Given the description of an element on the screen output the (x, y) to click on. 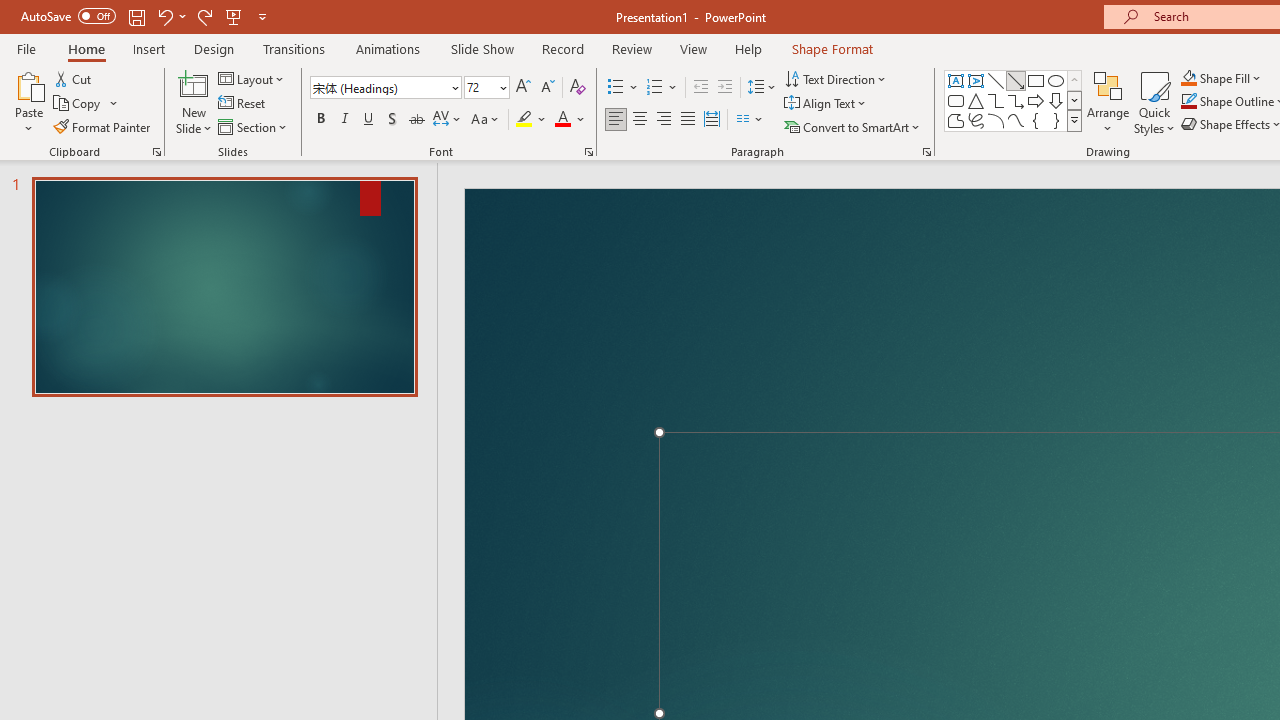
Text Direction (836, 78)
Character Spacing (447, 119)
Connector: Elbow (995, 100)
Convert to SmartArt (853, 126)
Copy (85, 103)
Shadow (392, 119)
Text Highlight Color (531, 119)
Connector: Elbow Arrow (1016, 100)
Text Highlight Color Yellow (524, 119)
Decrease Font Size (547, 87)
Shape Outline Blue, Accent 1 (1188, 101)
Font Color Red (562, 119)
